Given the description of an element on the screen output the (x, y) to click on. 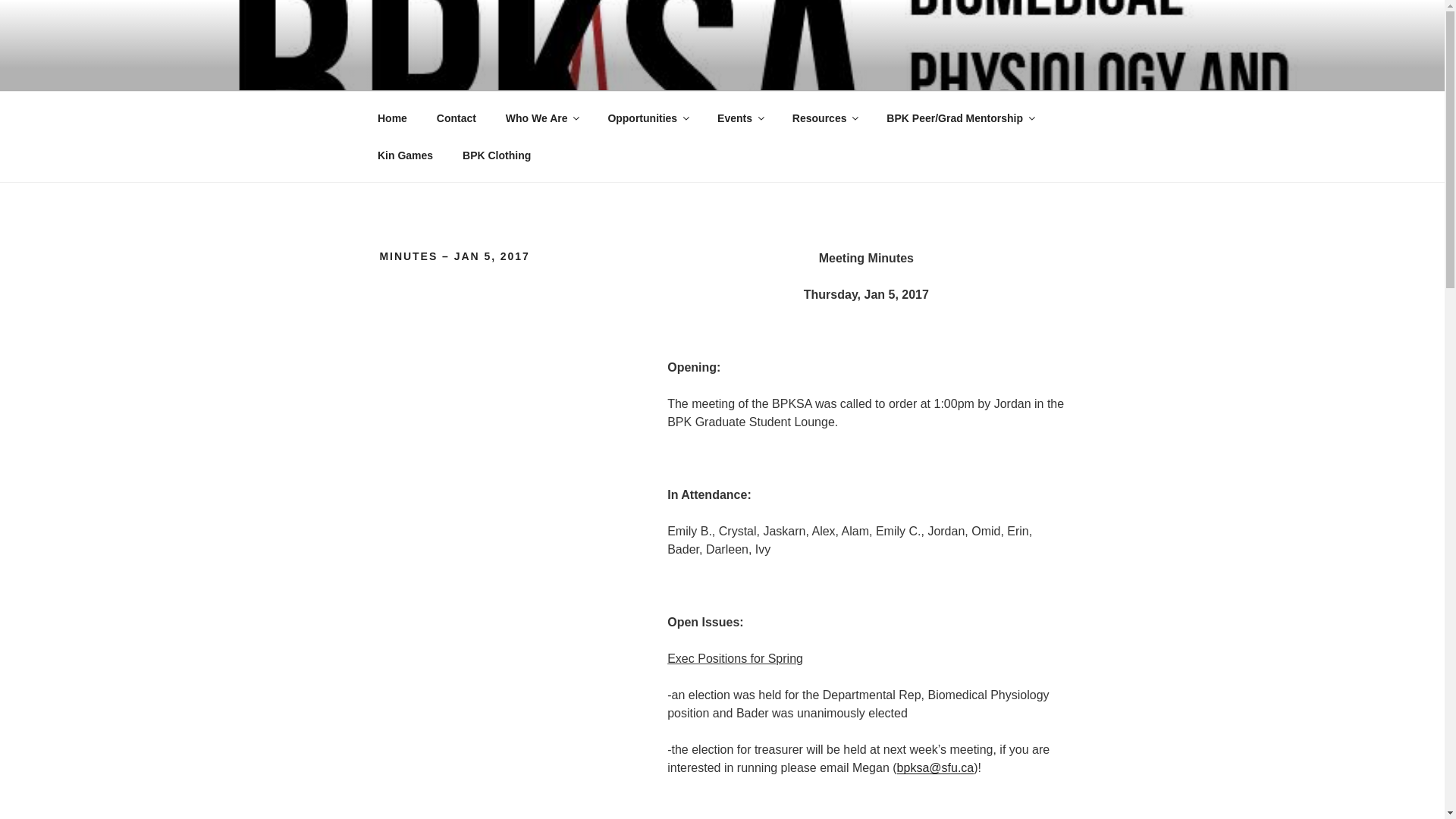
Opportunities (647, 118)
Resources (824, 118)
Home (392, 118)
Who We Are (541, 118)
Events (740, 118)
Contact (456, 118)
